Given the description of an element on the screen output the (x, y) to click on. 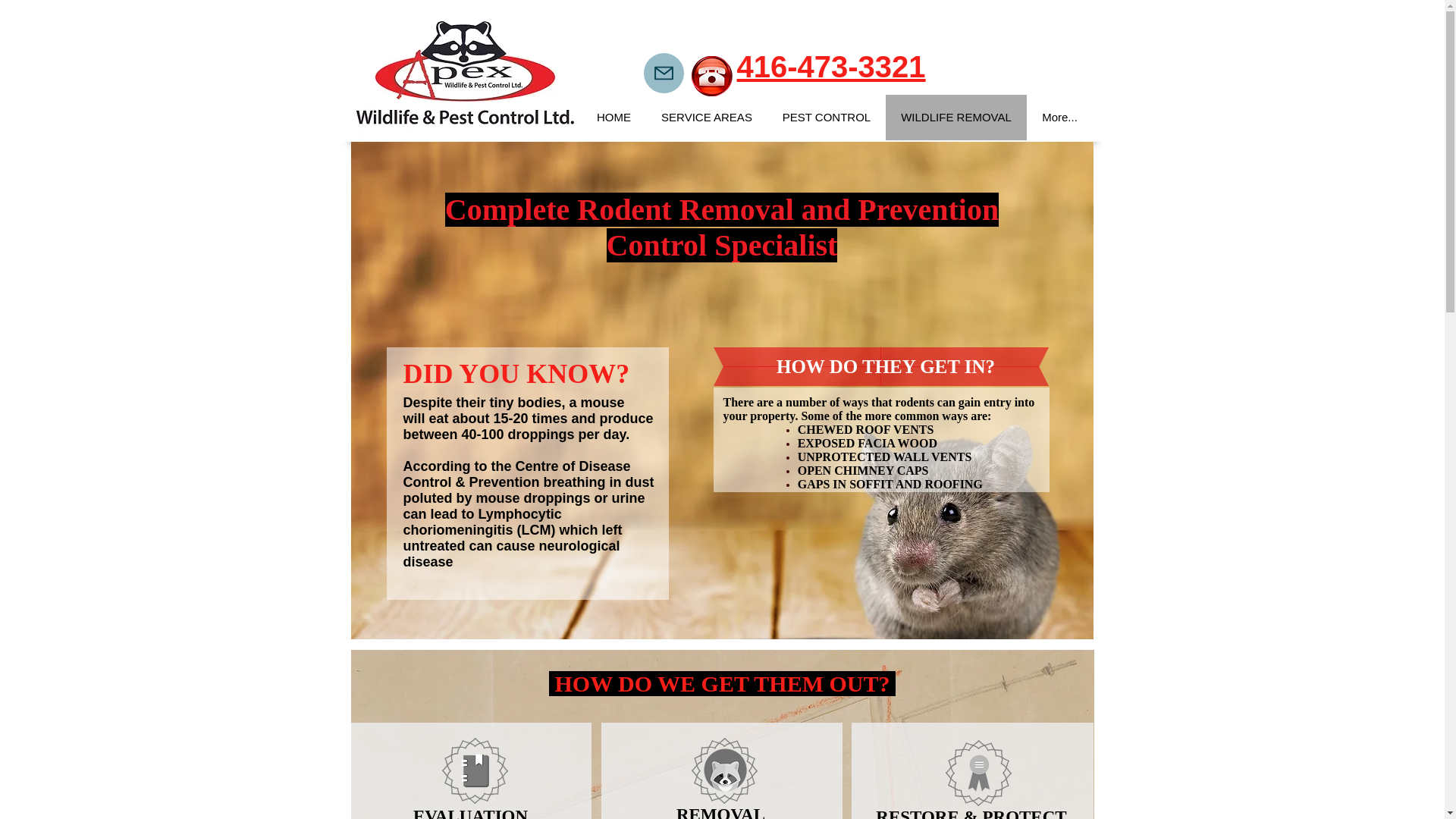
HOME (614, 117)
PEST CONTROL (826, 117)
WILDLIFE REMOVAL (955, 117)
416-473-3321 (831, 66)
SERVICE AREAS (706, 117)
